Given the description of an element on the screen output the (x, y) to click on. 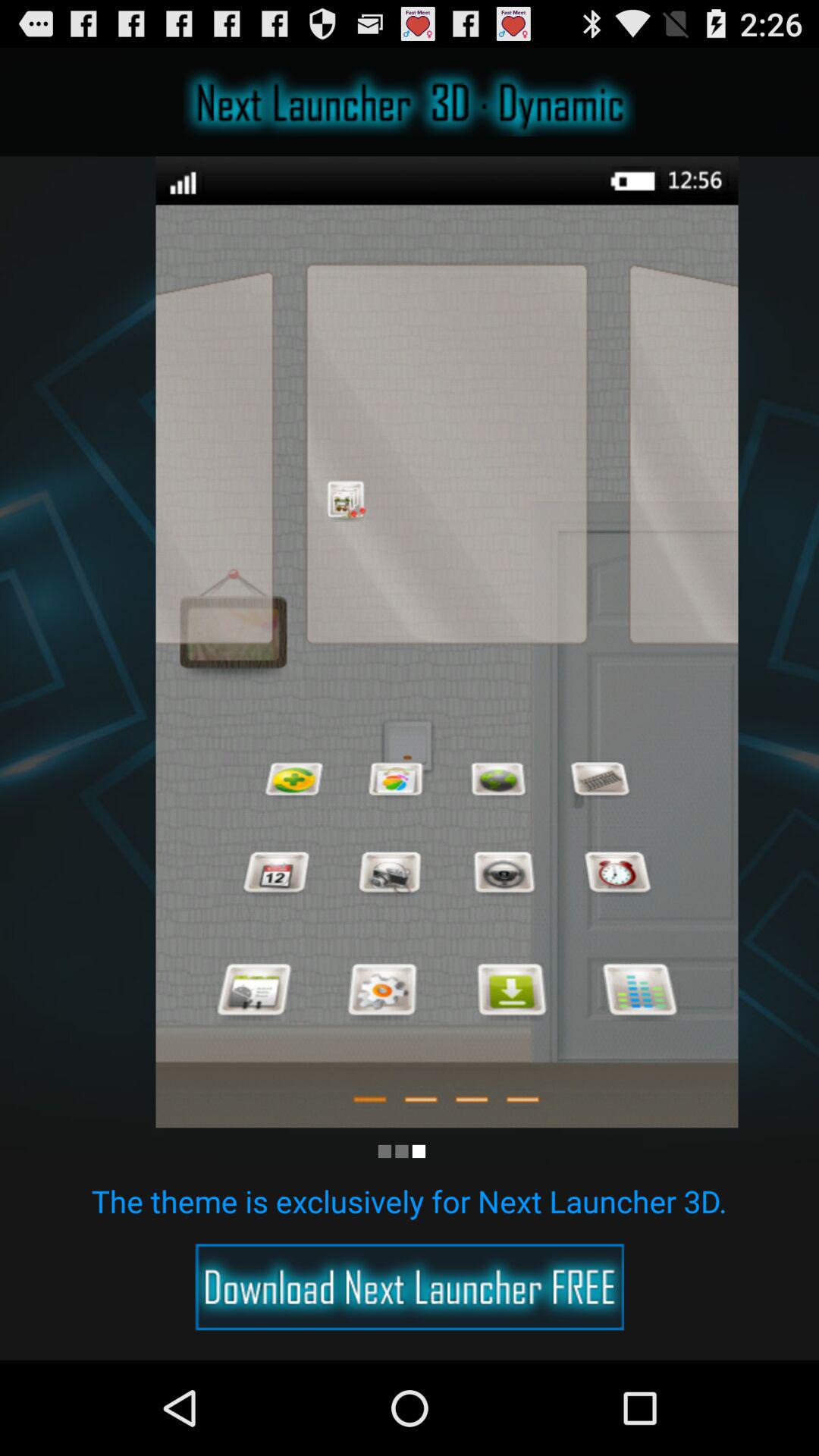
advertisement option (409, 1286)
